Given the description of an element on the screen output the (x, y) to click on. 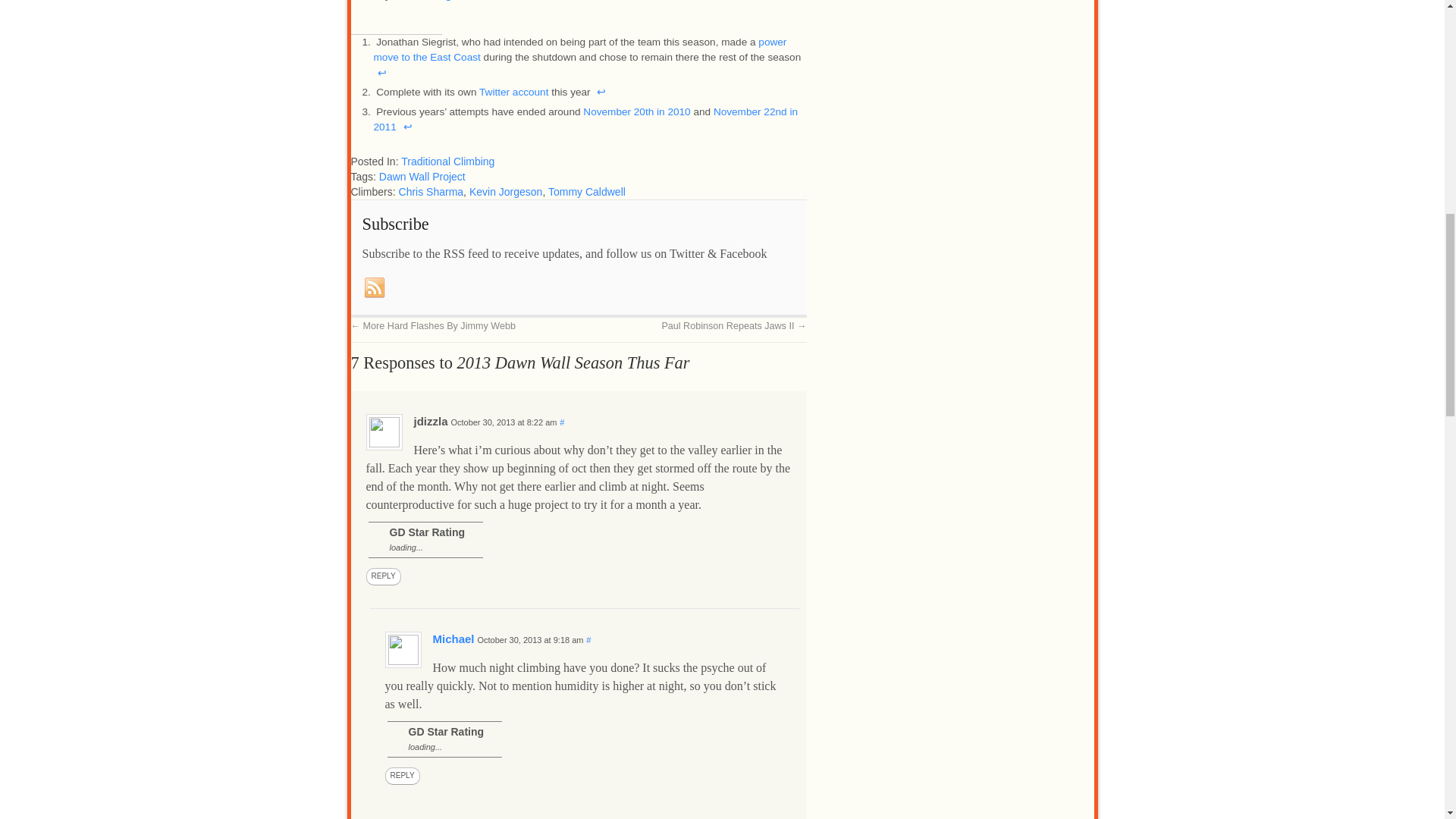
Twitter account (513, 91)
power move to the East Coast (579, 49)
Subscribe to our RSS feed (374, 287)
